Given the description of an element on the screen output the (x, y) to click on. 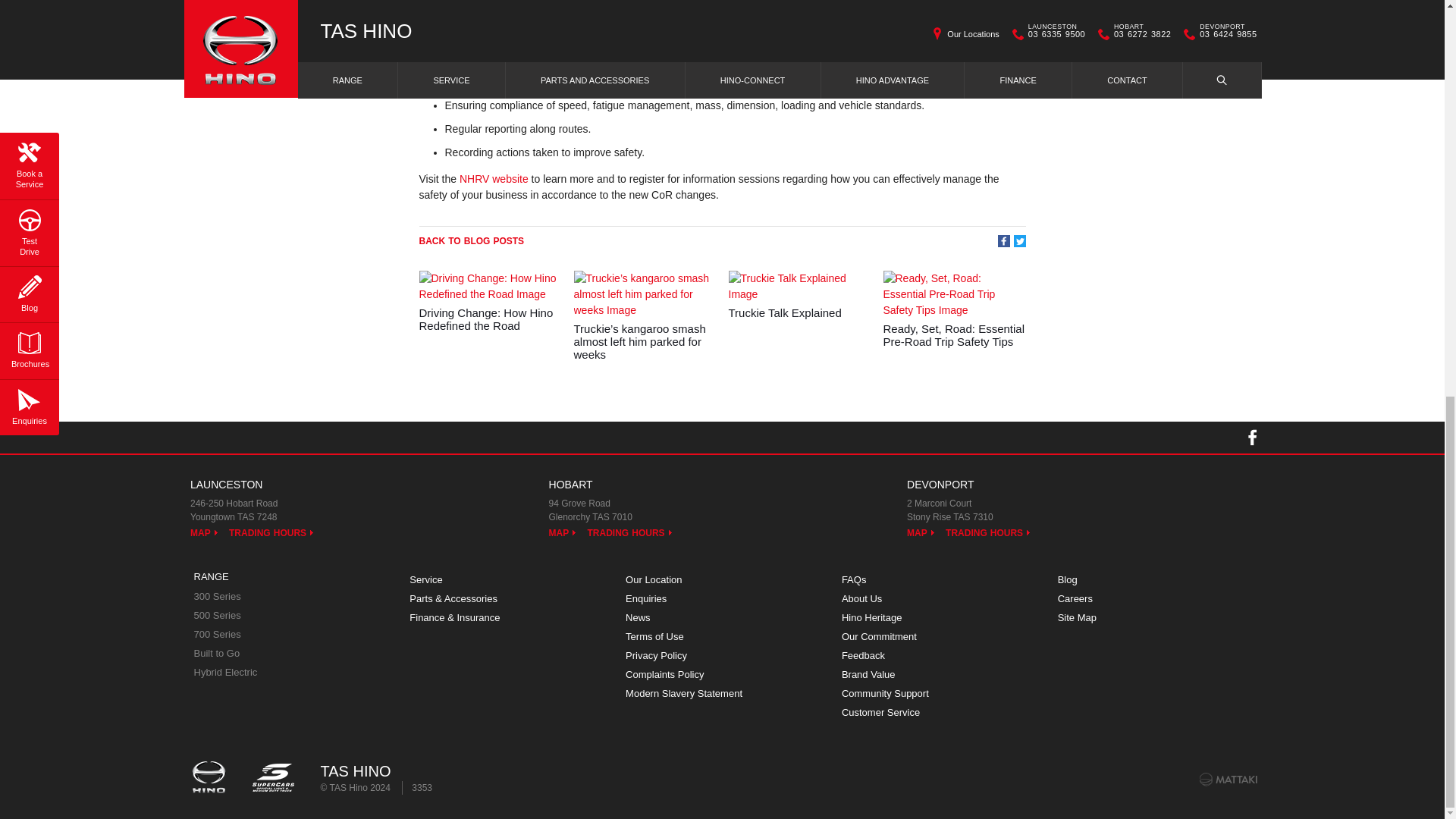
Supercars (272, 778)
Return to the Home Page (210, 778)
Facebook (1003, 241)
Become a Friend on Facebook (1252, 437)
Twitter (1019, 241)
